Given the description of an element on the screen output the (x, y) to click on. 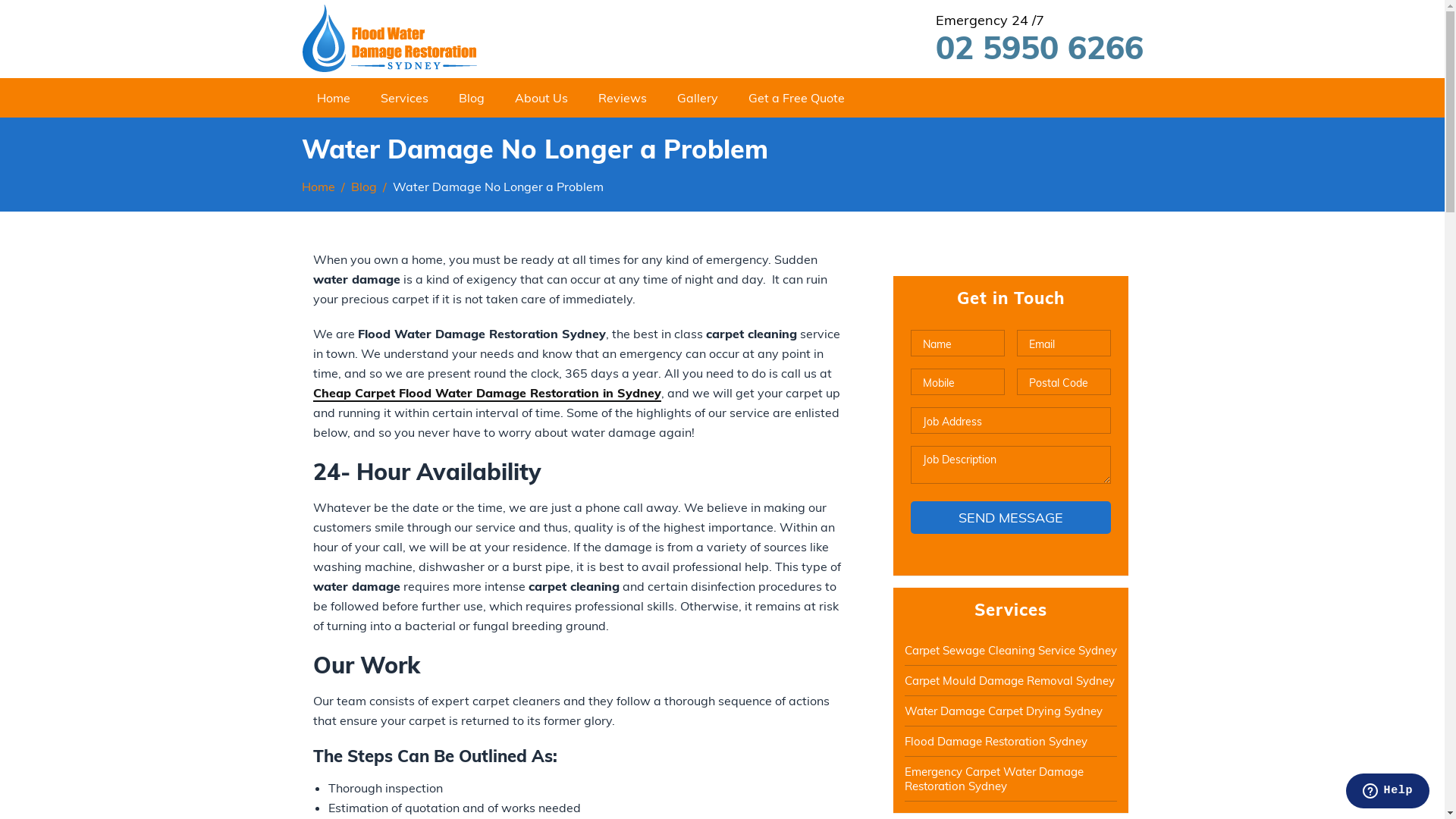
Services Element type: text (404, 97)
Blog Element type: text (470, 97)
Gallery Element type: text (696, 97)
Flood Damage Restoration Sydney Element type: text (1009, 741)
Water Damage Carpet Drying Sydney Element type: text (1009, 710)
Blog Element type: text (363, 186)
Home Element type: text (333, 97)
Get a Free Quote Element type: text (795, 97)
Emergency 24 /7
02 5950 6266 Element type: text (1016, 37)
Opens a widget where you can chat to one of our agents Element type: hover (1387, 792)
Carpet Sewage Cleaning Service Sydney Element type: text (1009, 650)
Home Element type: text (318, 186)
Send Message Element type: text (1010, 517)
Reviews Element type: text (621, 97)
Carpet Mould Damage Removal Sydney Element type: text (1009, 680)
Cheap Carpet Flood Water Damage Restoration in Sydney Element type: text (486, 393)
Emergency Carpet Water Damage Restoration Sydney Element type: text (1009, 778)
About Us Element type: text (540, 97)
